Given the description of an element on the screen output the (x, y) to click on. 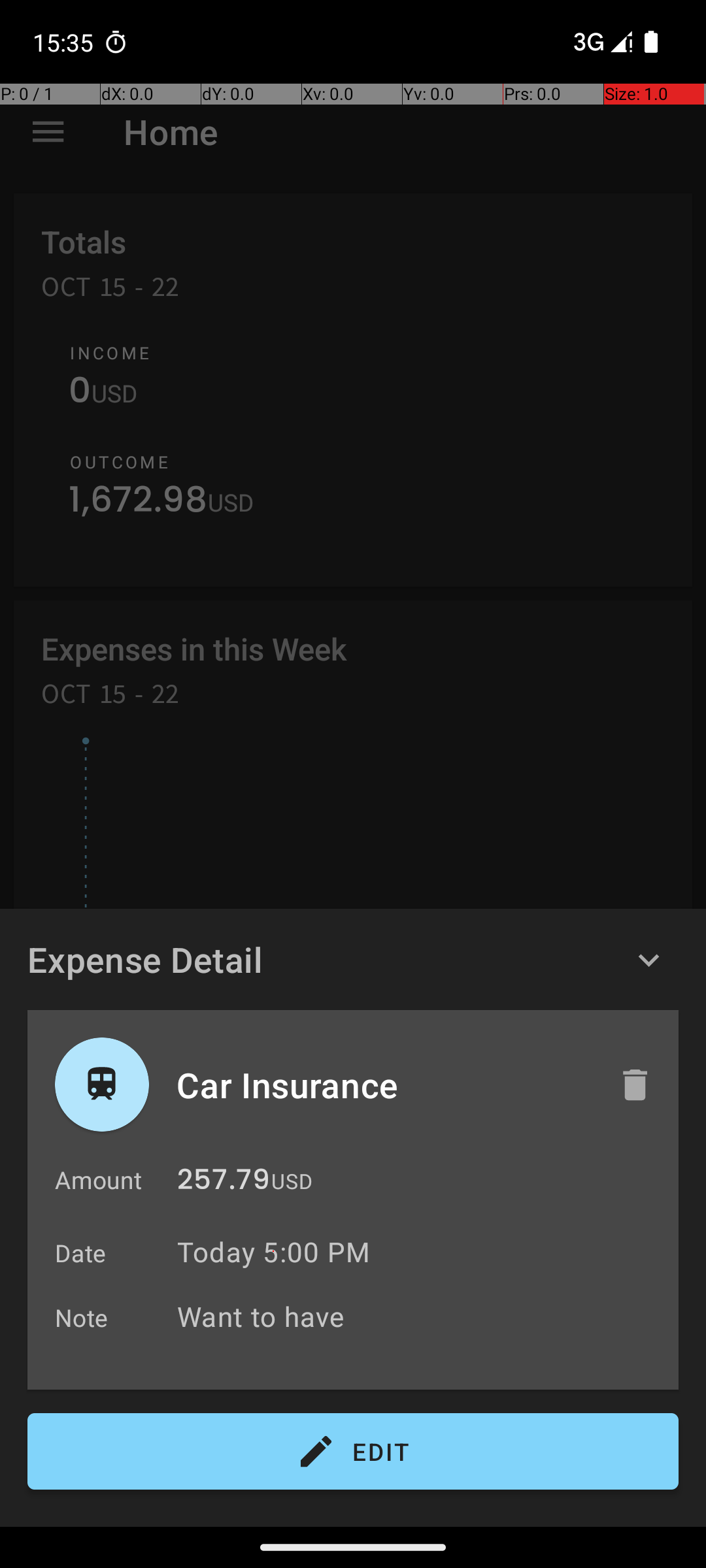
Car Insurance Element type: android.widget.TextView (383, 1084)
257.79 Element type: android.widget.TextView (223, 1182)
